Given the description of an element on the screen output the (x, y) to click on. 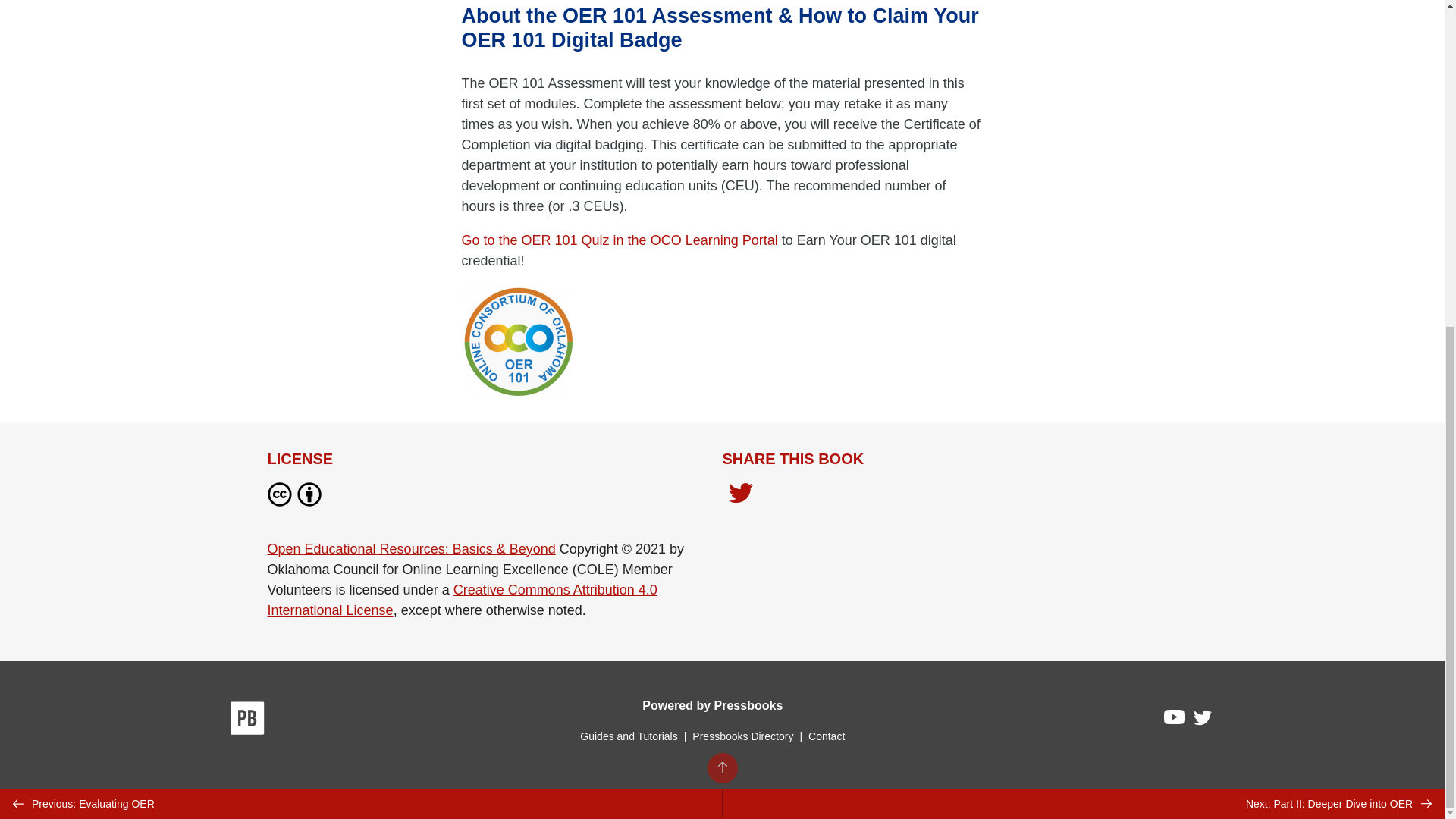
Creative Commons Attribution 4.0 International License (461, 600)
BACK TO TOP (721, 231)
Pressbooks on YouTube (1174, 721)
Go to the OER 101 Quiz in the OCO Learning Portal (619, 239)
Powered by Pressbooks (712, 705)
Share on Twitter (740, 496)
Guides and Tutorials (627, 735)
Previous: Evaluating OER (361, 266)
Previous: Evaluating OER (361, 266)
Contact (826, 735)
Share on Twitter (740, 494)
Pressbooks Directory (742, 735)
